Given the description of an element on the screen output the (x, y) to click on. 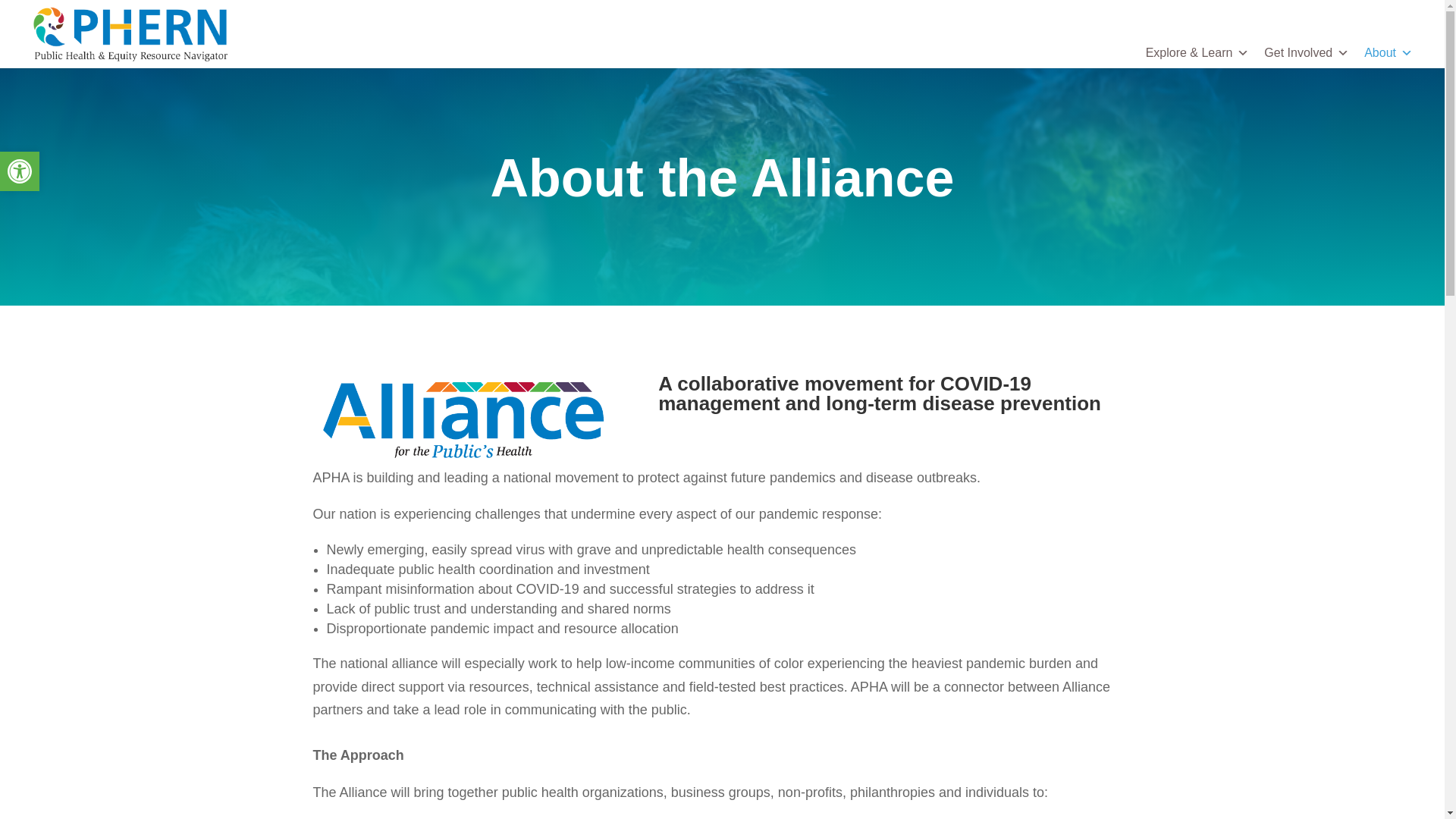
Accessibility Tools (19, 170)
Accessibility Tools (19, 170)
Get Involved (19, 170)
